Given the description of an element on the screen output the (x, y) to click on. 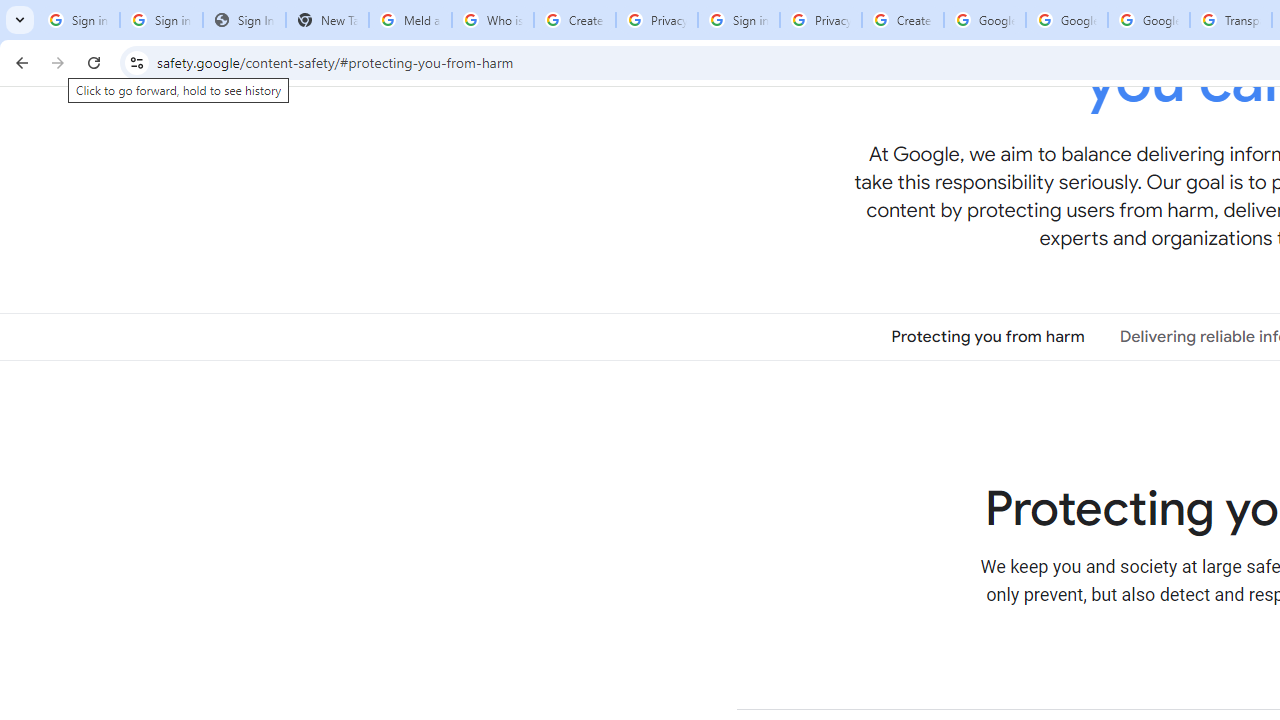
Sign in - Google Accounts (738, 20)
Google Account (1149, 20)
New Tab (326, 20)
